Given the description of an element on the screen output the (x, y) to click on. 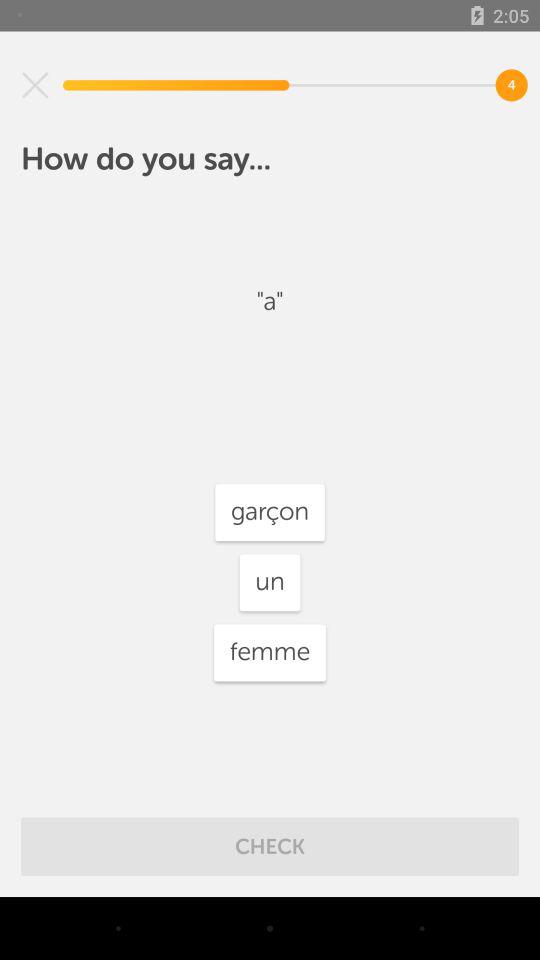
turn on item at the top left corner (35, 85)
